Given the description of an element on the screen output the (x, y) to click on. 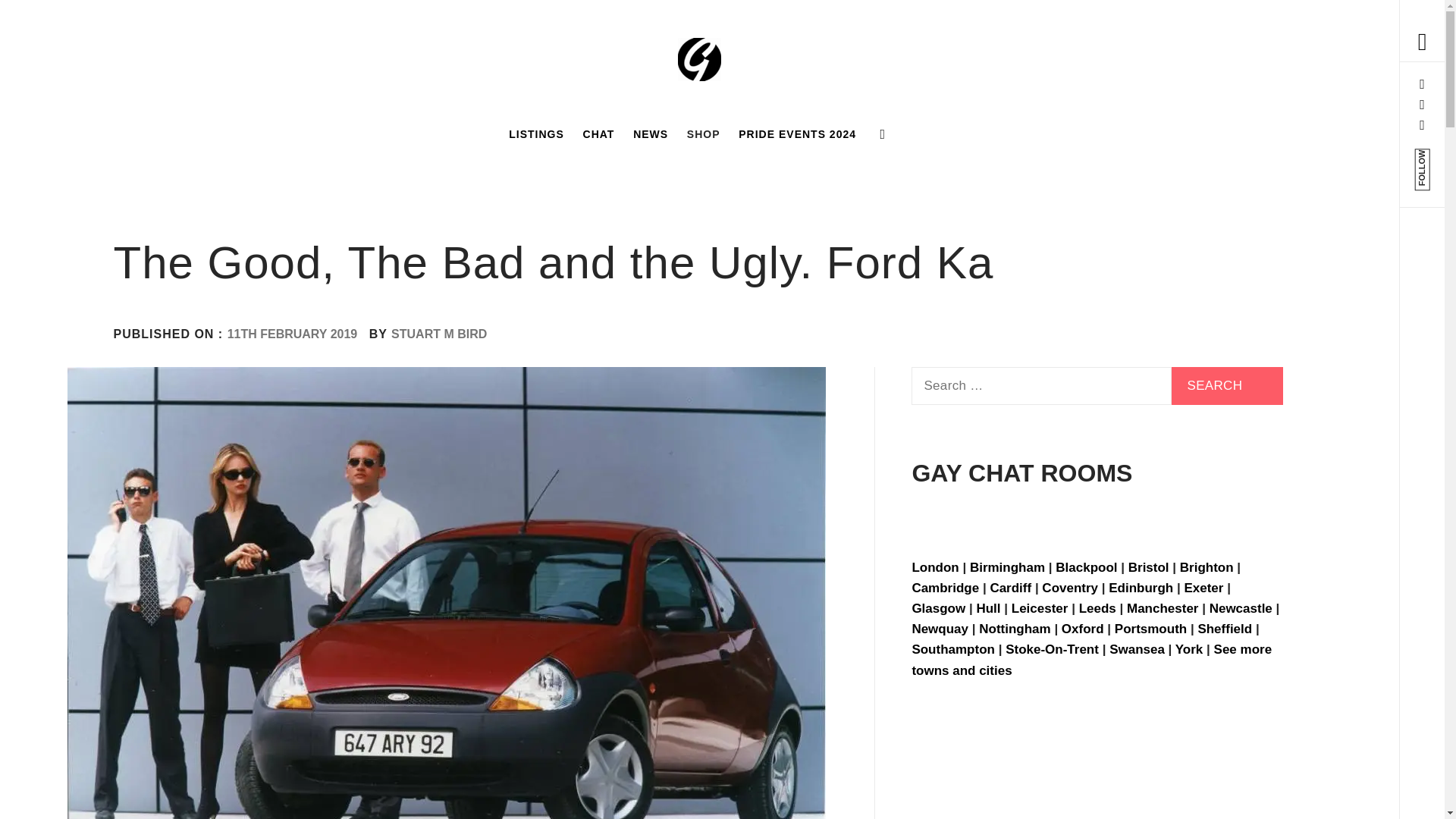
SHOP (703, 134)
PRIDE EVENTS 2024 (796, 134)
LISTINGS (536, 134)
Search (1227, 385)
CHAT (599, 134)
Search (646, 37)
STUART M BIRD (438, 333)
NEWS (650, 134)
Search (1227, 385)
